Given the description of an element on the screen output the (x, y) to click on. 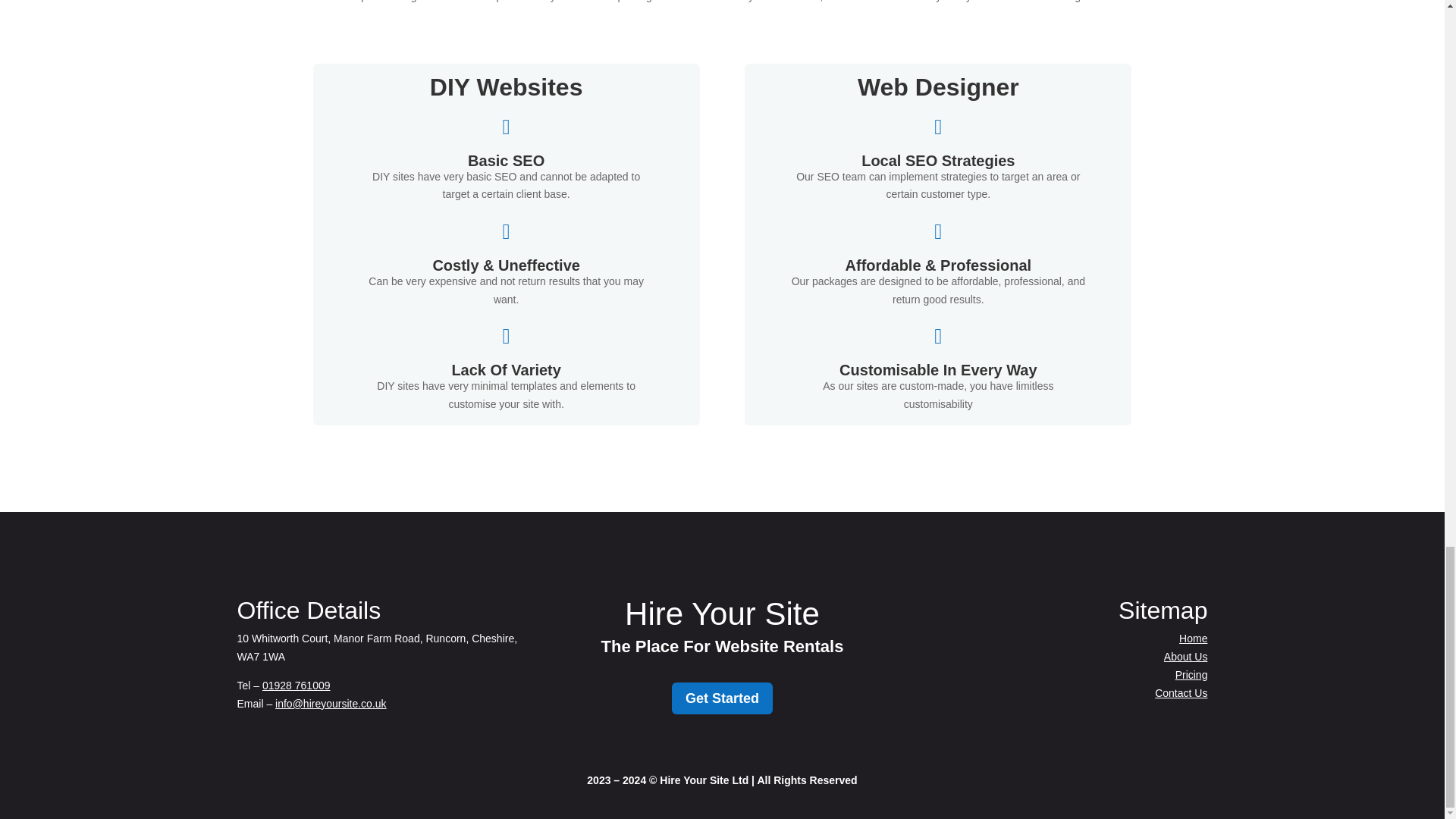
Pricing (1191, 674)
01928 761009 (296, 685)
Home (1193, 638)
Get Started (722, 697)
Contact Us (1180, 693)
About Us (1185, 656)
